Given the description of an element on the screen output the (x, y) to click on. 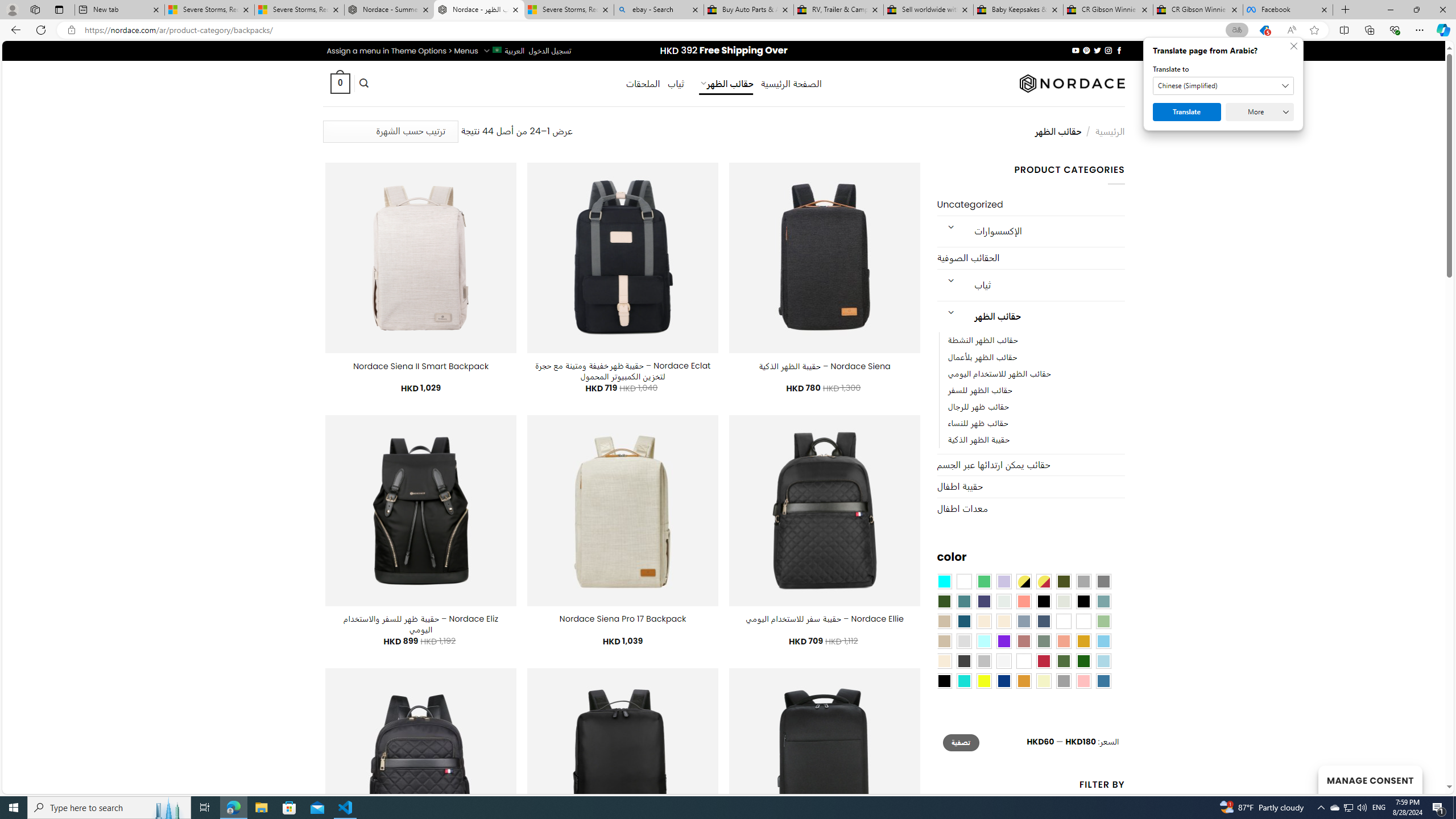
Nordace Siena II Smart Backpack (420, 365)
Caramel (983, 621)
